Given the description of an element on the screen output the (x, y) to click on. 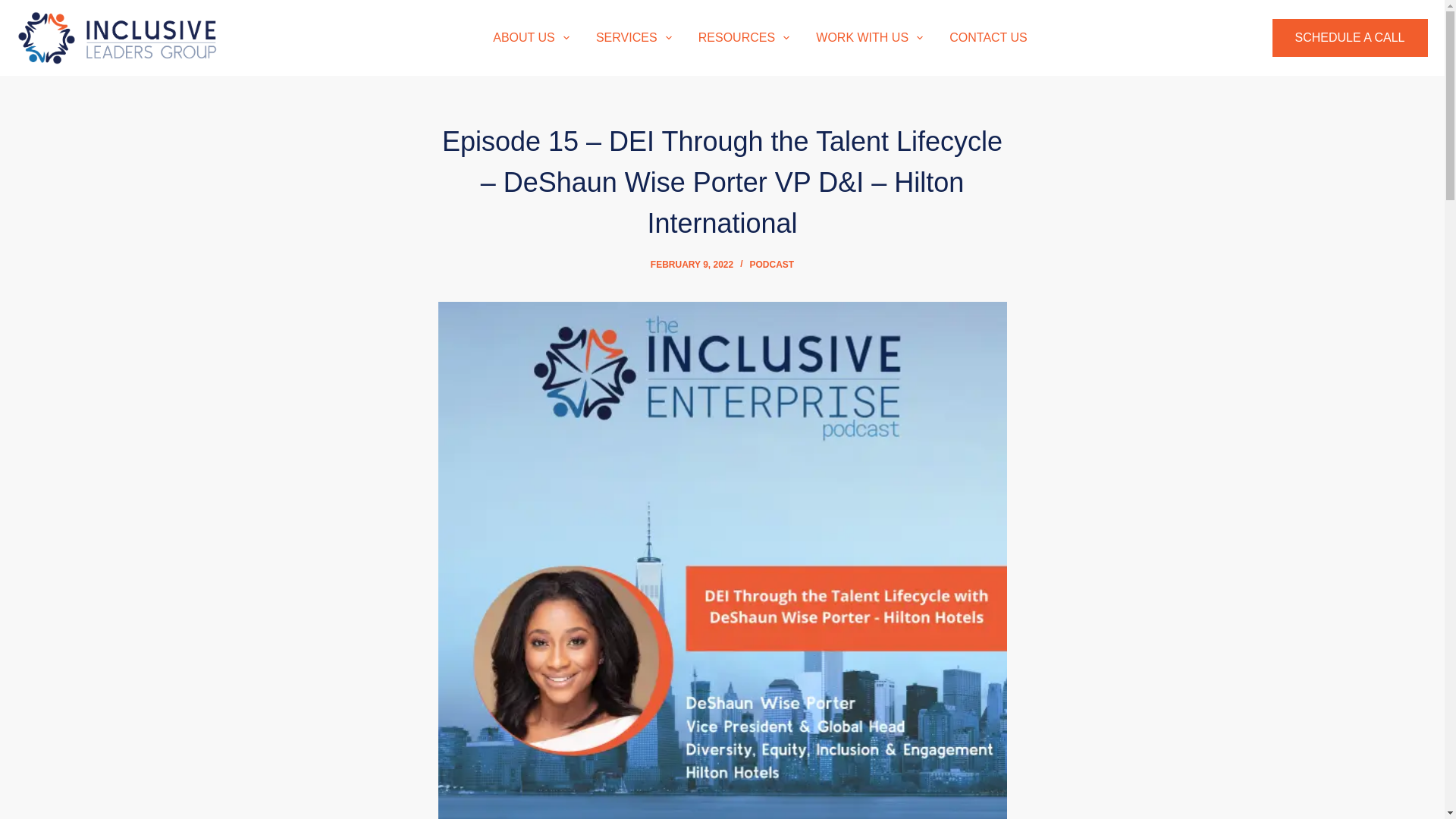
RESOURCES (743, 37)
ABOUT US (531, 37)
SERVICES (633, 37)
Skip to content (15, 7)
